Given the description of an element on the screen output the (x, y) to click on. 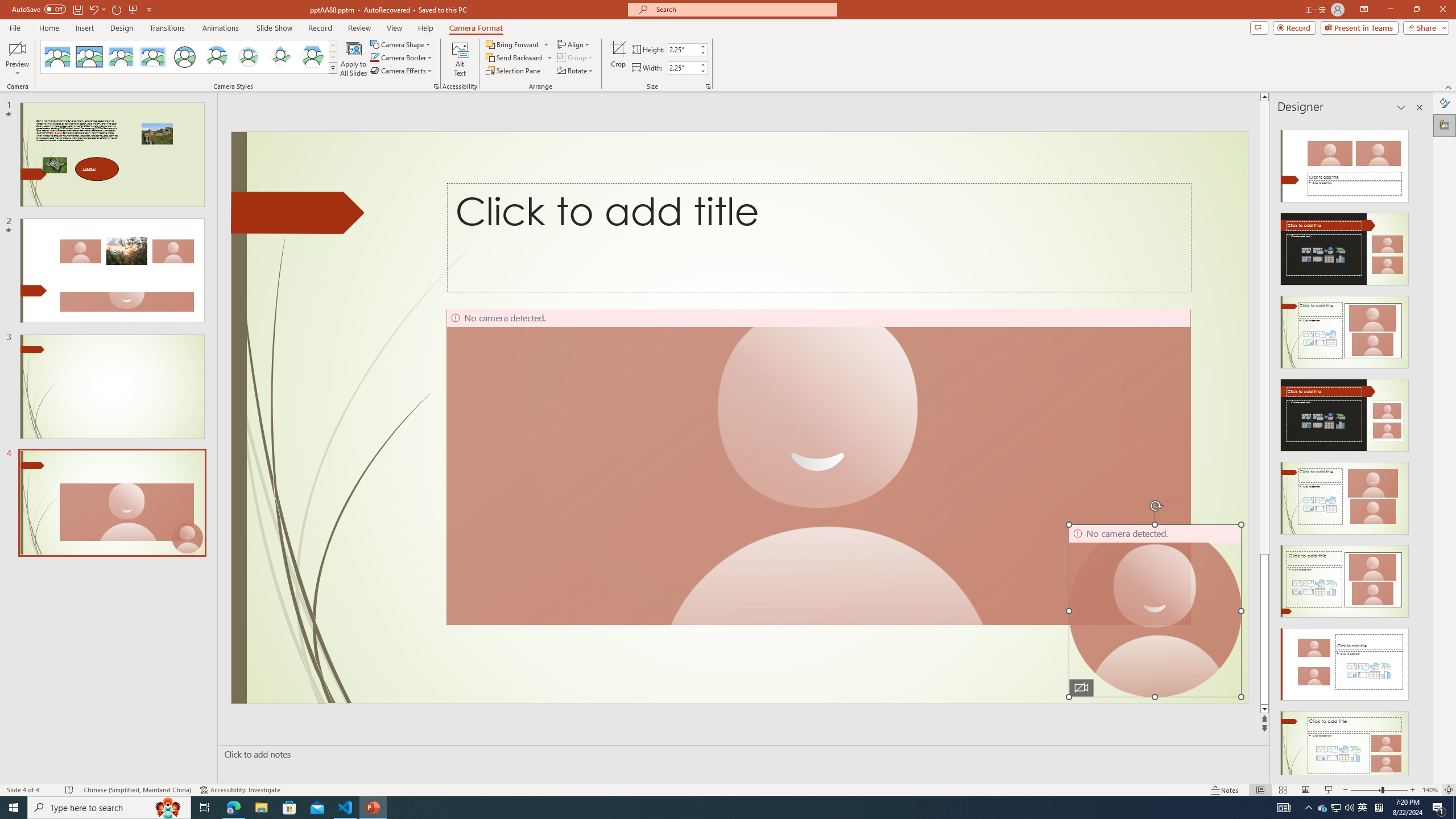
Enable Camera Preview (17, 48)
Send Backward (518, 56)
Design Idea (1344, 743)
Camera Border Teal, Accent 1 (374, 56)
Class: NetUIScrollBar (1418, 447)
